Given the description of an element on the screen output the (x, y) to click on. 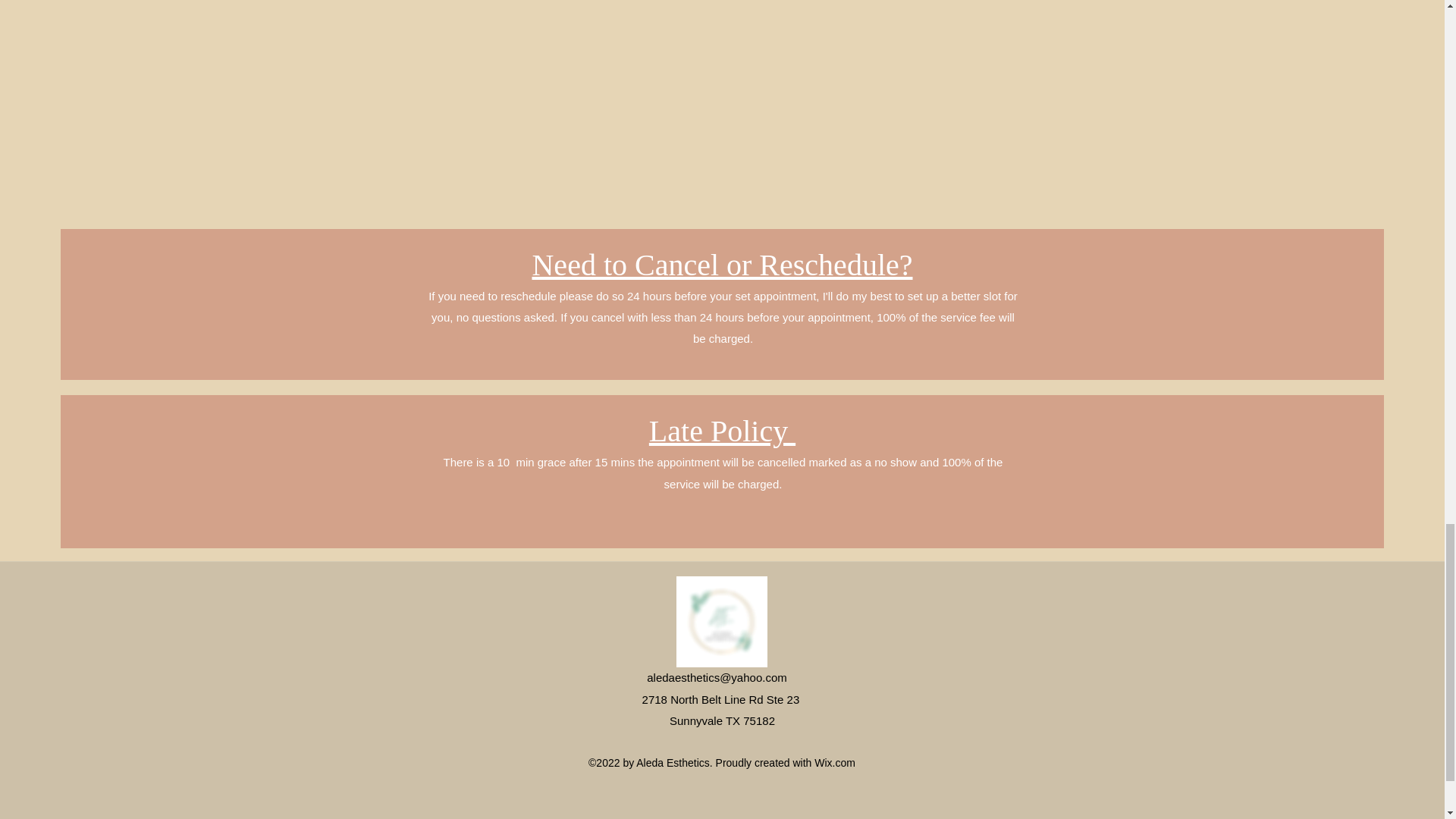
Need to Cancel or Reschedule? (721, 264)
Late Policy  (721, 430)
